Given the description of an element on the screen output the (x, y) to click on. 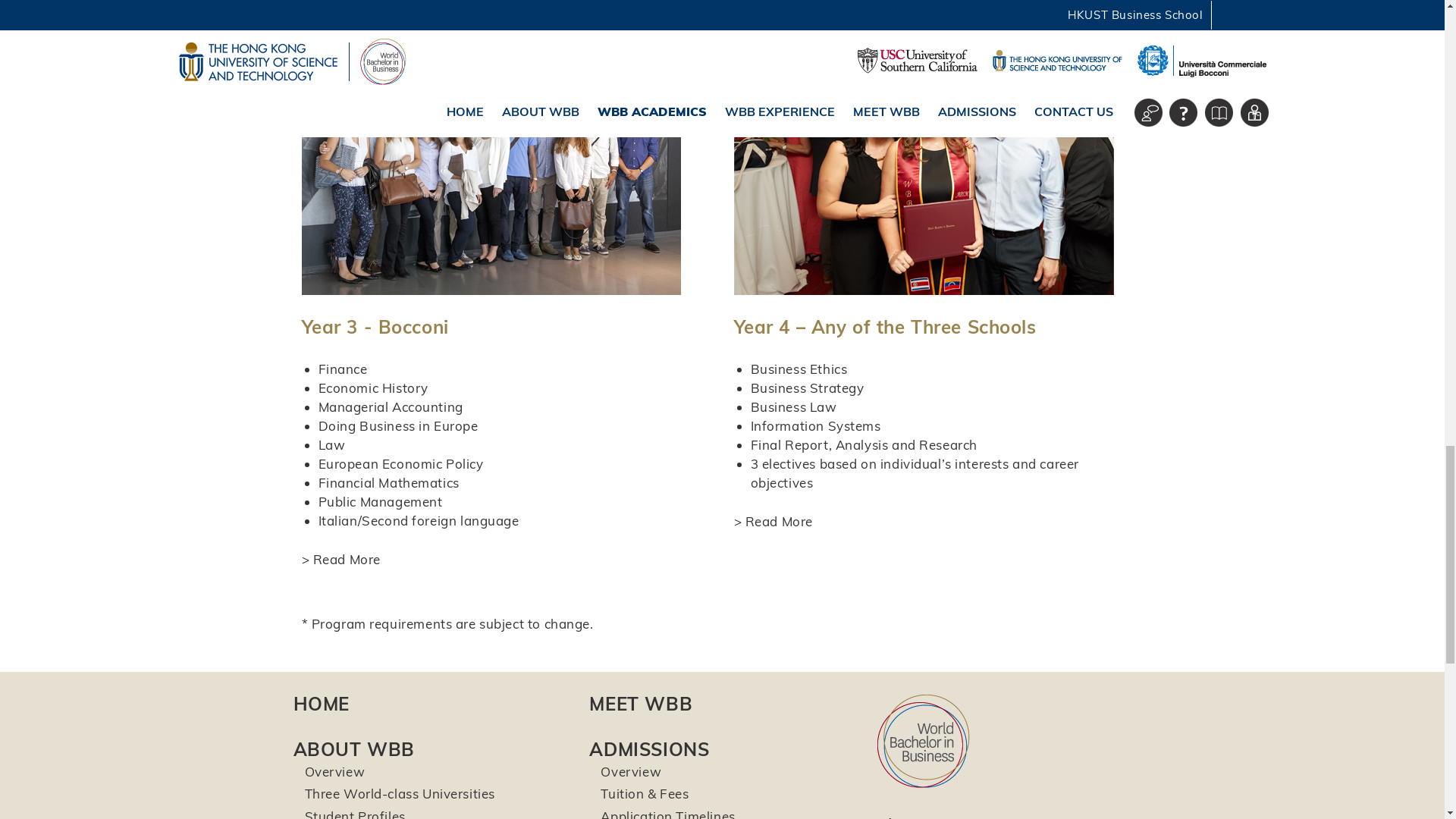
World Bachelor in Business (923, 740)
